Given the description of an element on the screen output the (x, y) to click on. 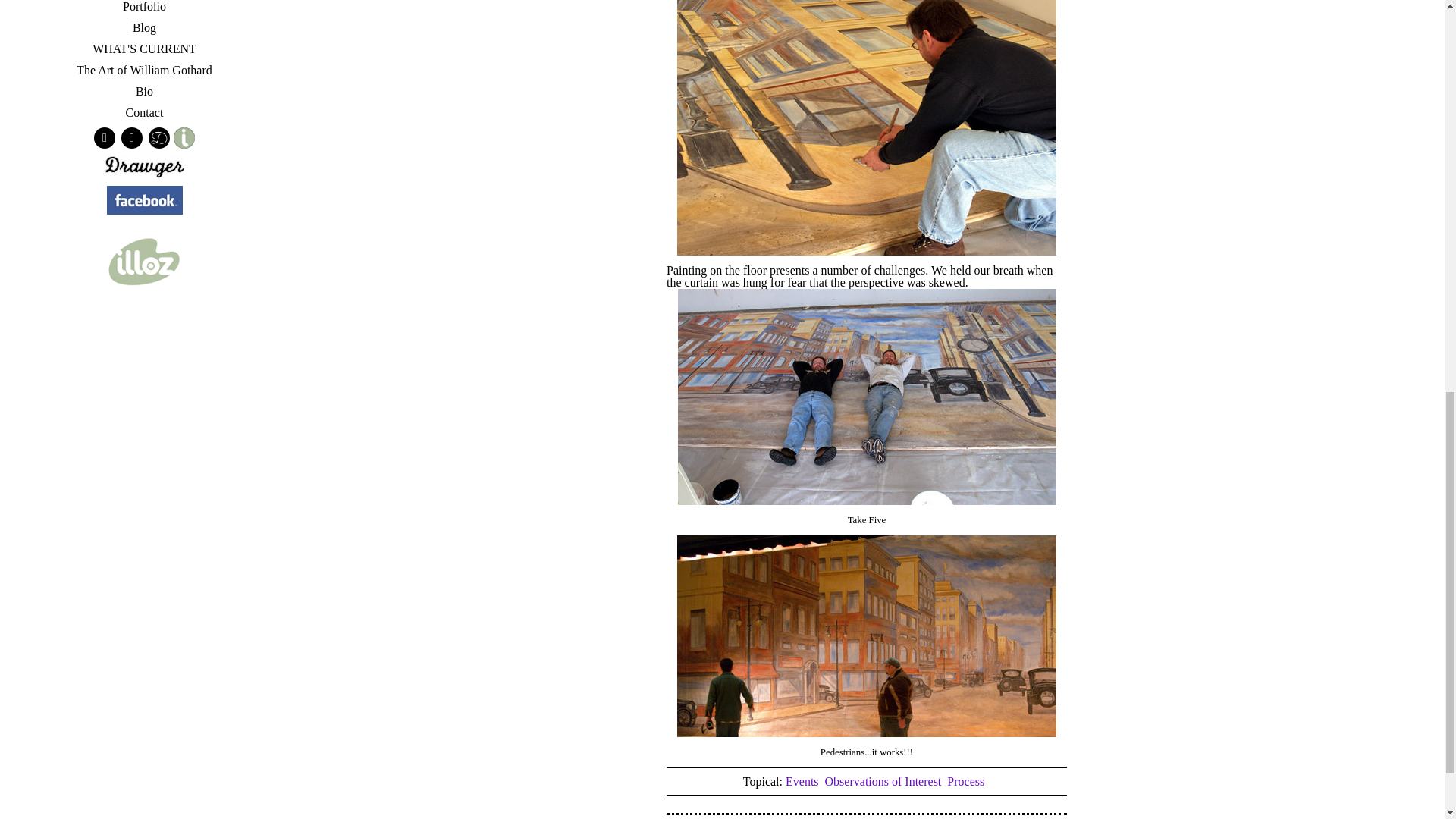
Observations of Interest (883, 780)
Events (802, 780)
Process (965, 780)
